Given the description of an element on the screen output the (x, y) to click on. 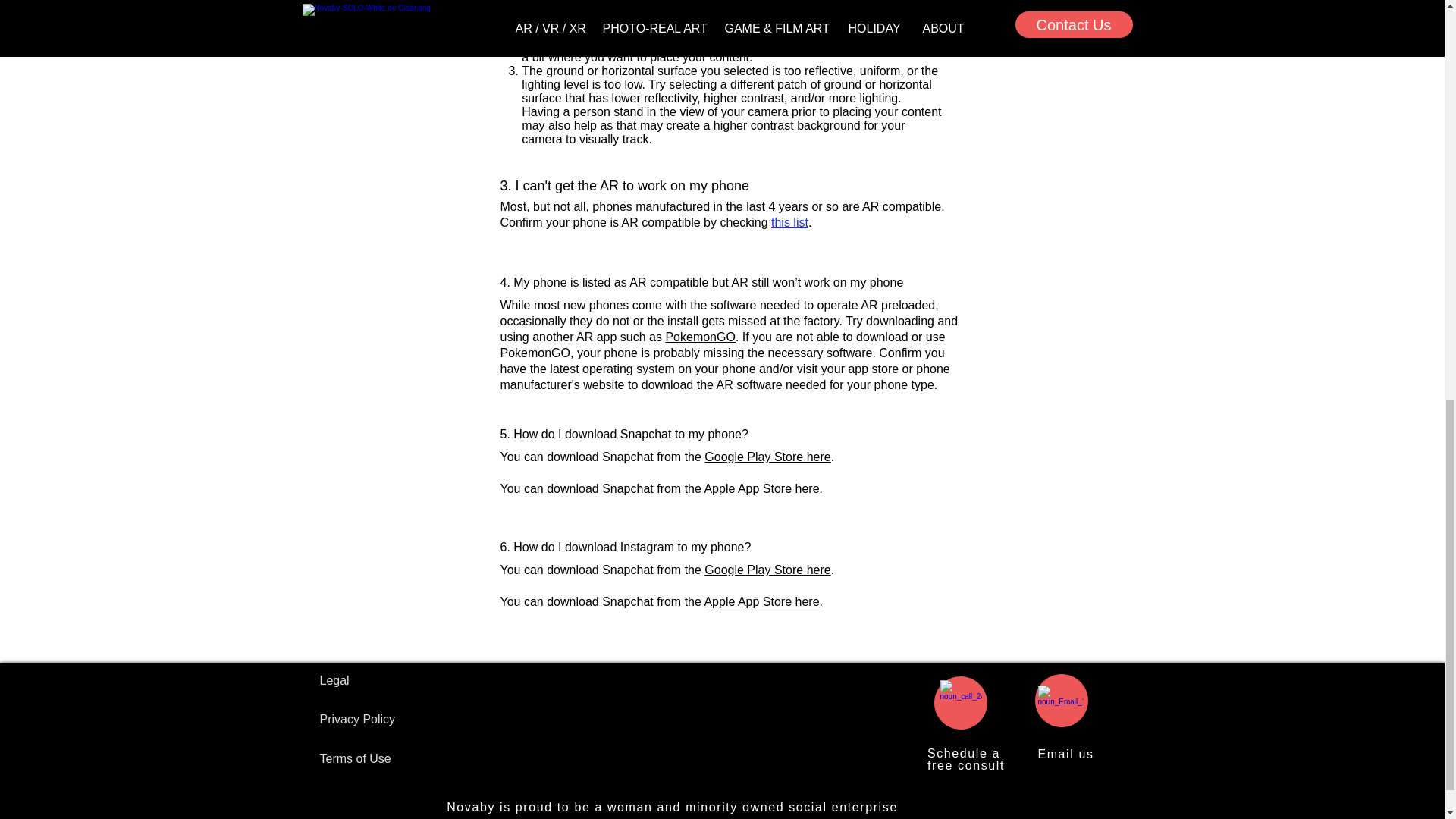
Google Play Store here (766, 456)
Apple App Store here (760, 488)
this list (789, 222)
Terms of Use (355, 758)
Legal (965, 759)
Email us (334, 680)
Google Play Store here (1064, 753)
Apple App Store here (766, 569)
Privacy Policy (760, 601)
PokemonGO (358, 718)
